Given the description of an element on the screen output the (x, y) to click on. 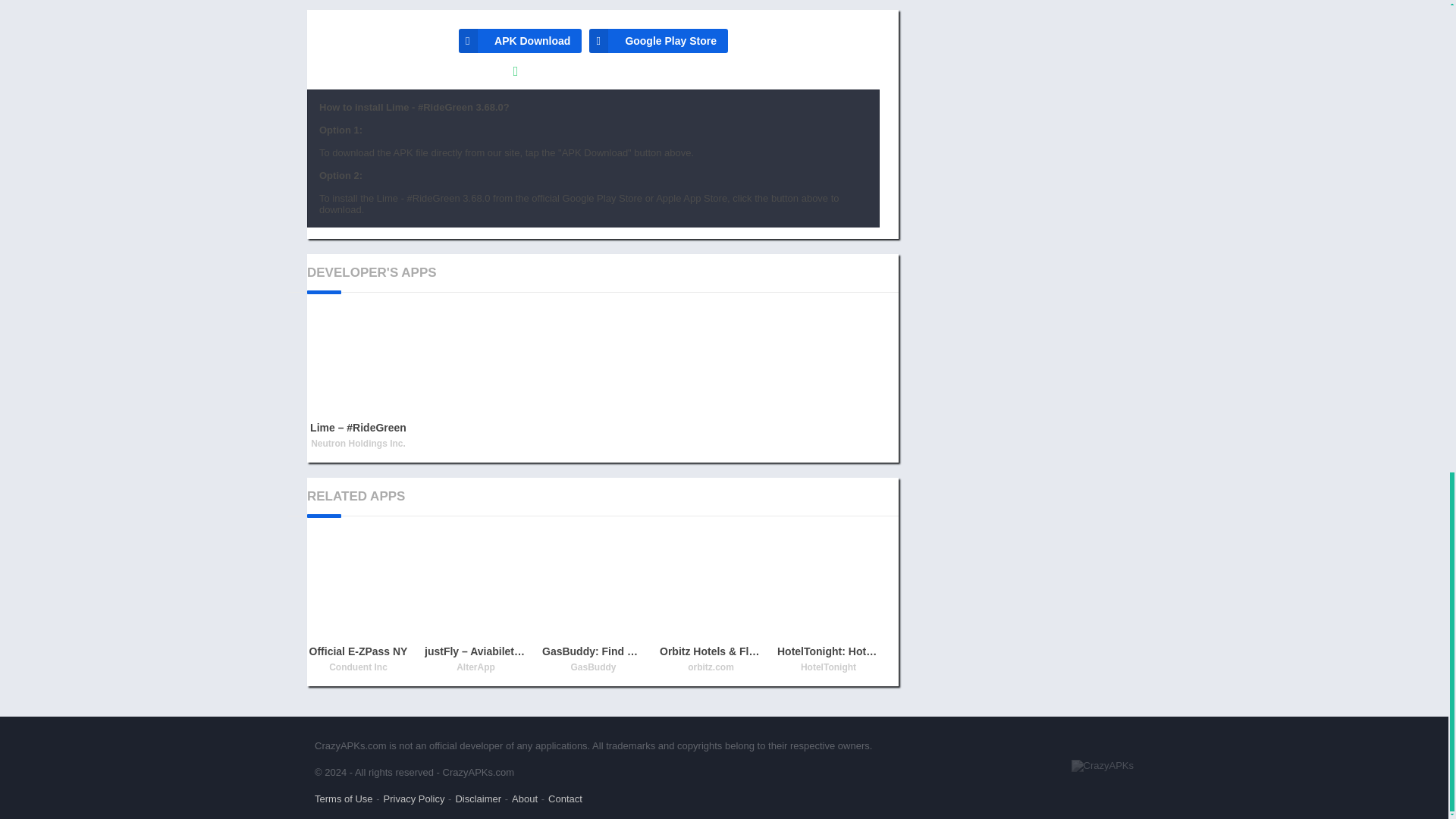
Google Play Store (658, 40)
APK Download (519, 40)
Official E-ZPass NY (358, 604)
HotelTonight: Hotel Deals (828, 604)
